Given the description of an element on the screen output the (x, y) to click on. 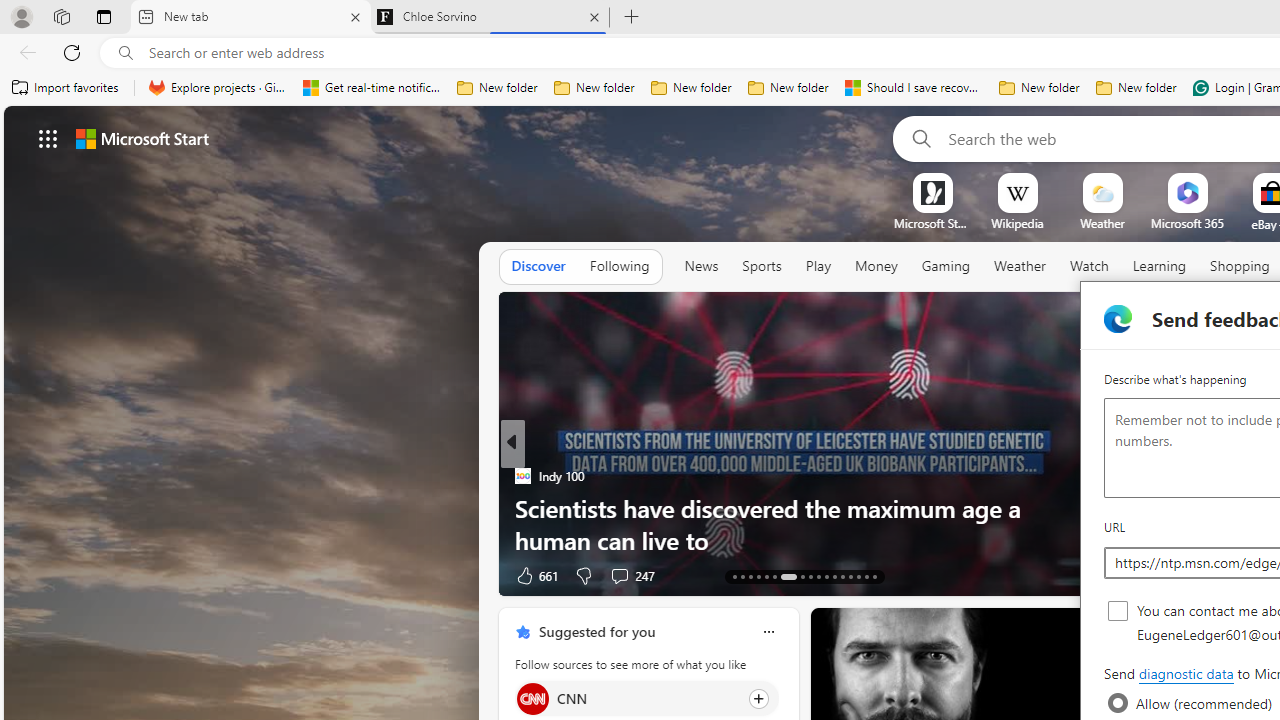
AutomationID: tab-19 (788, 576)
AutomationID: tab-22 (818, 576)
661 Like (535, 574)
Should I save recovered Word documents? - Microsoft Support (913, 88)
CNN (532, 697)
Money (876, 267)
Sports (761, 267)
diagnostic data (1185, 673)
Learning (1159, 267)
Indy 100 (522, 475)
AutomationID: tab-15 (750, 576)
